Given the description of an element on the screen output the (x, y) to click on. 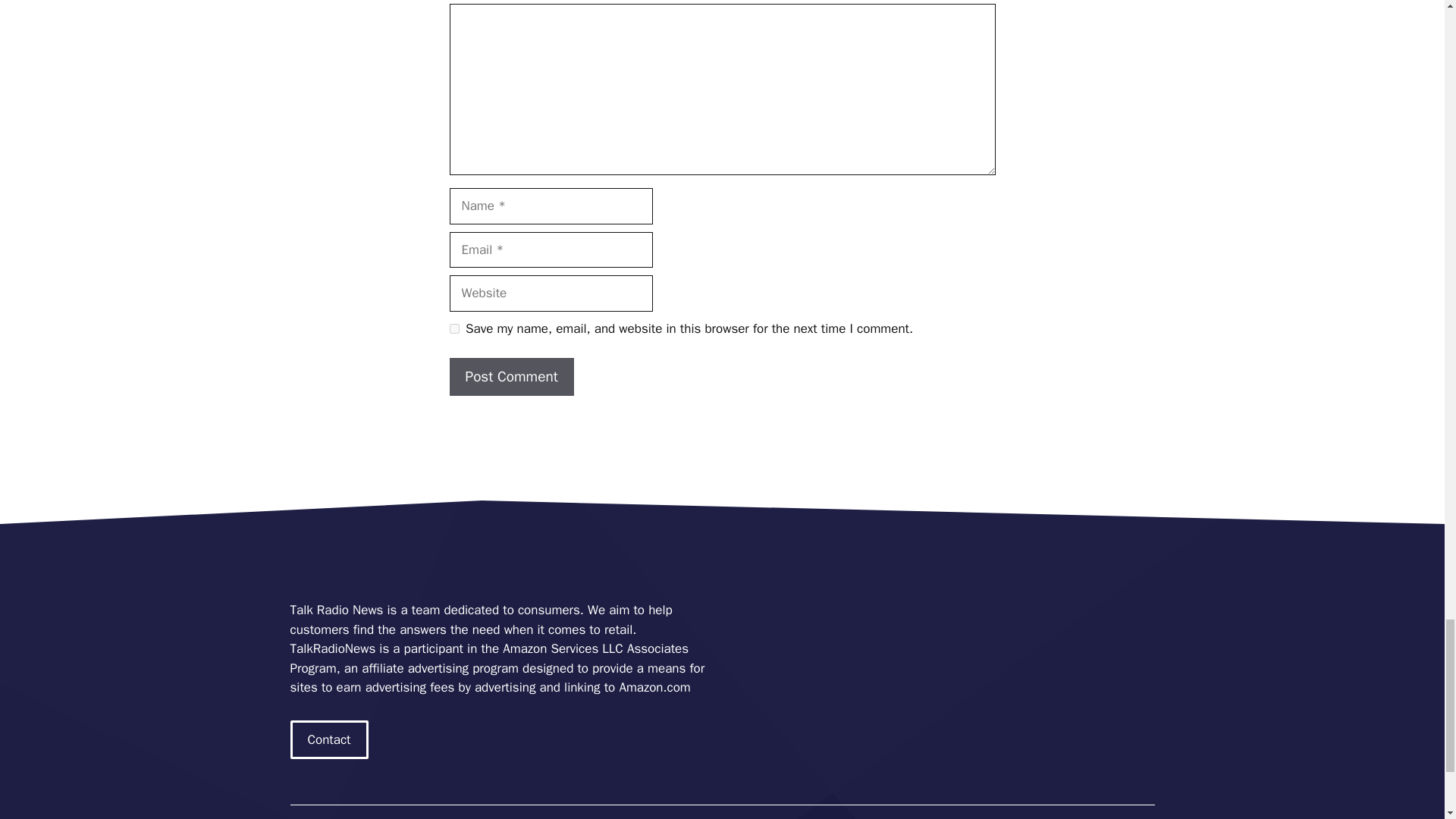
Post Comment (510, 376)
Post Comment (510, 376)
Contact (328, 740)
yes (453, 328)
